Given the description of an element on the screen output the (x, y) to click on. 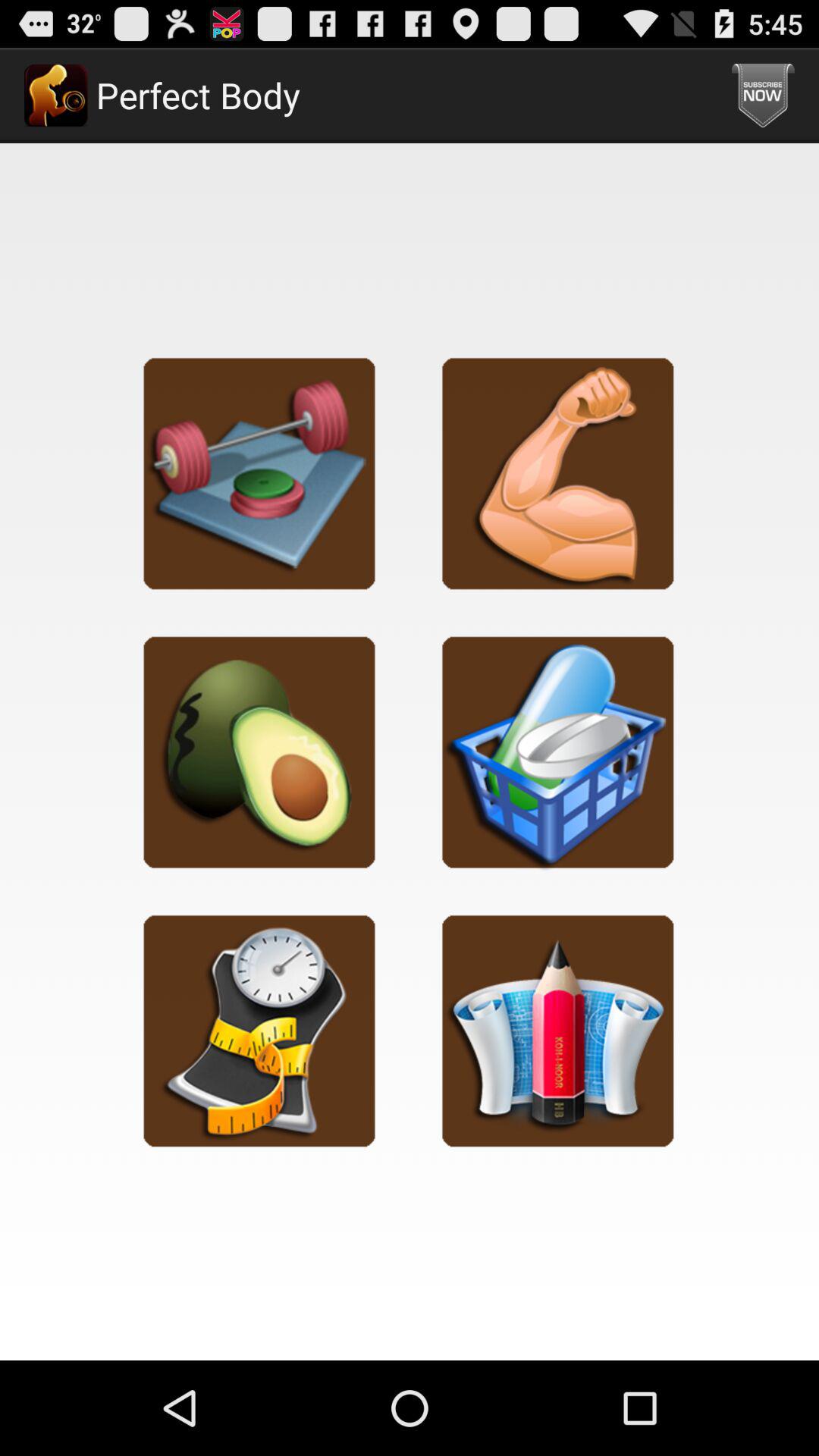
select muscle (558, 472)
